Given the description of an element on the screen output the (x, y) to click on. 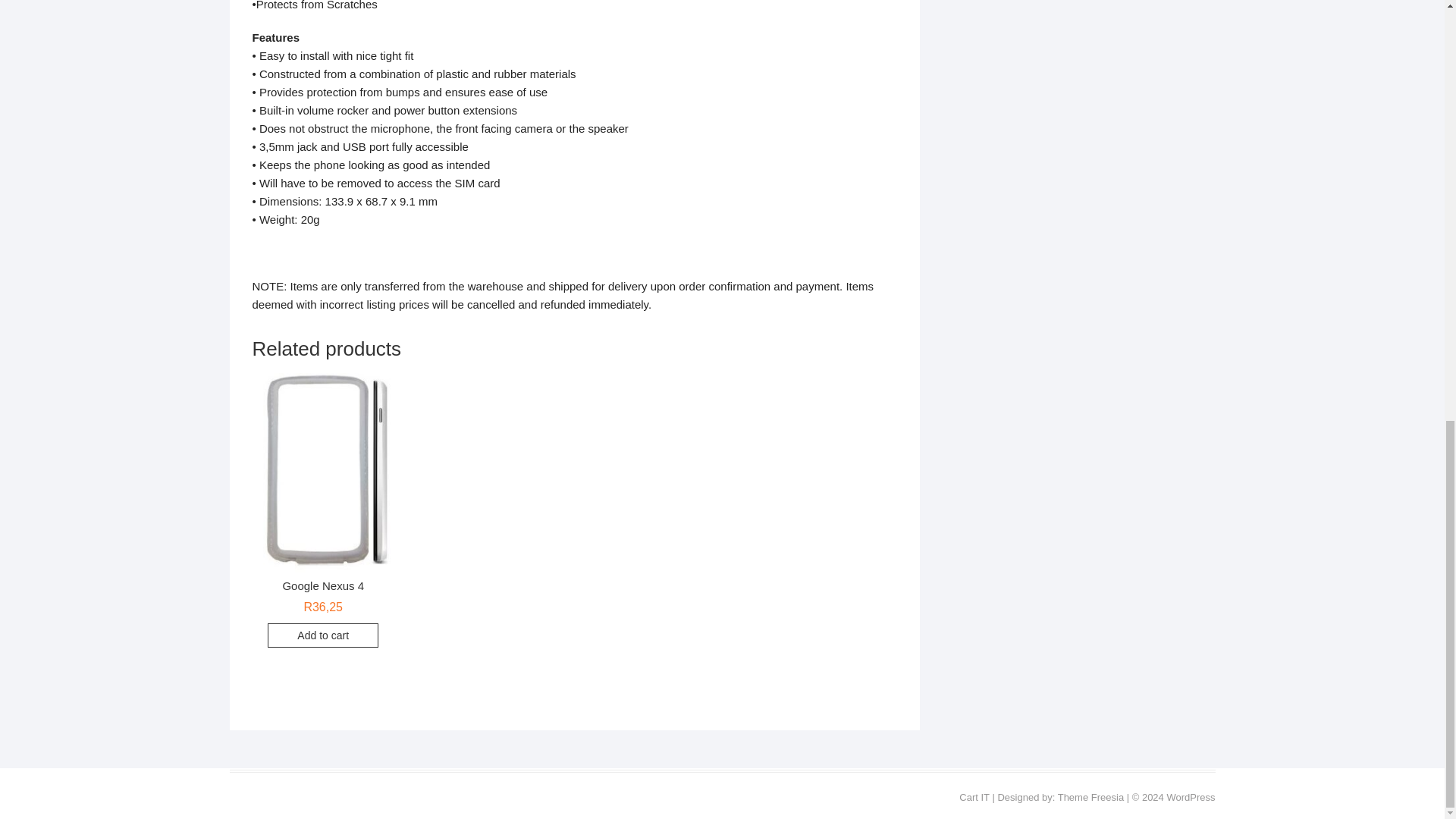
WordPress (1190, 797)
Theme Freesia (1091, 797)
WordPress (1190, 797)
Cart IT (974, 797)
Theme Freesia (1091, 797)
Cart IT (974, 797)
Add to cart (322, 635)
